Given the description of an element on the screen output the (x, y) to click on. 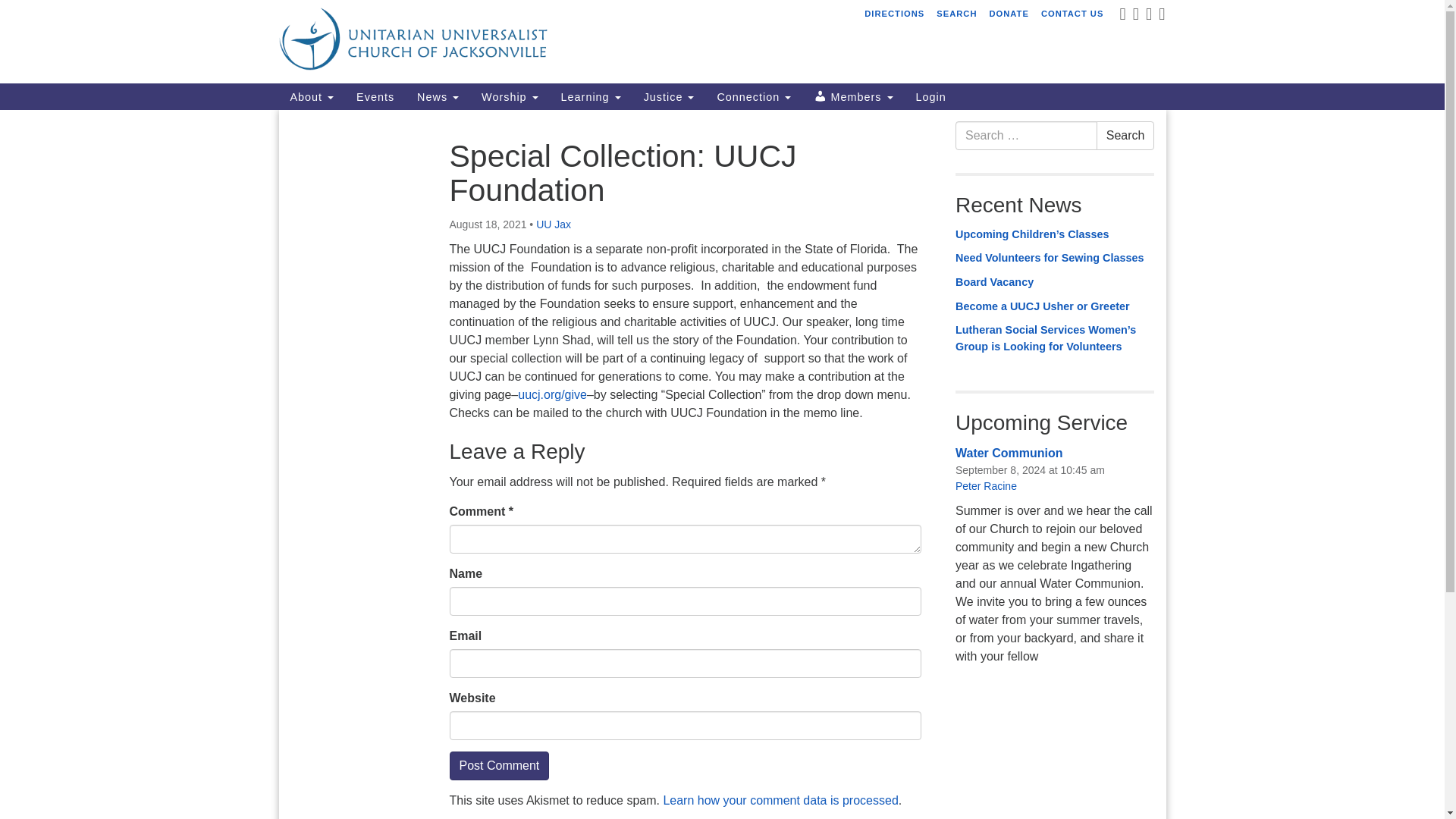
Worship (510, 96)
CONTACT US (1072, 13)
Connection (753, 96)
SEARCH (956, 13)
INSTAGRAM (1161, 16)
About (312, 96)
Justice (668, 96)
DONATE (1008, 13)
DIRECTIONS (894, 13)
Learning (590, 96)
